Given the description of an element on the screen output the (x, y) to click on. 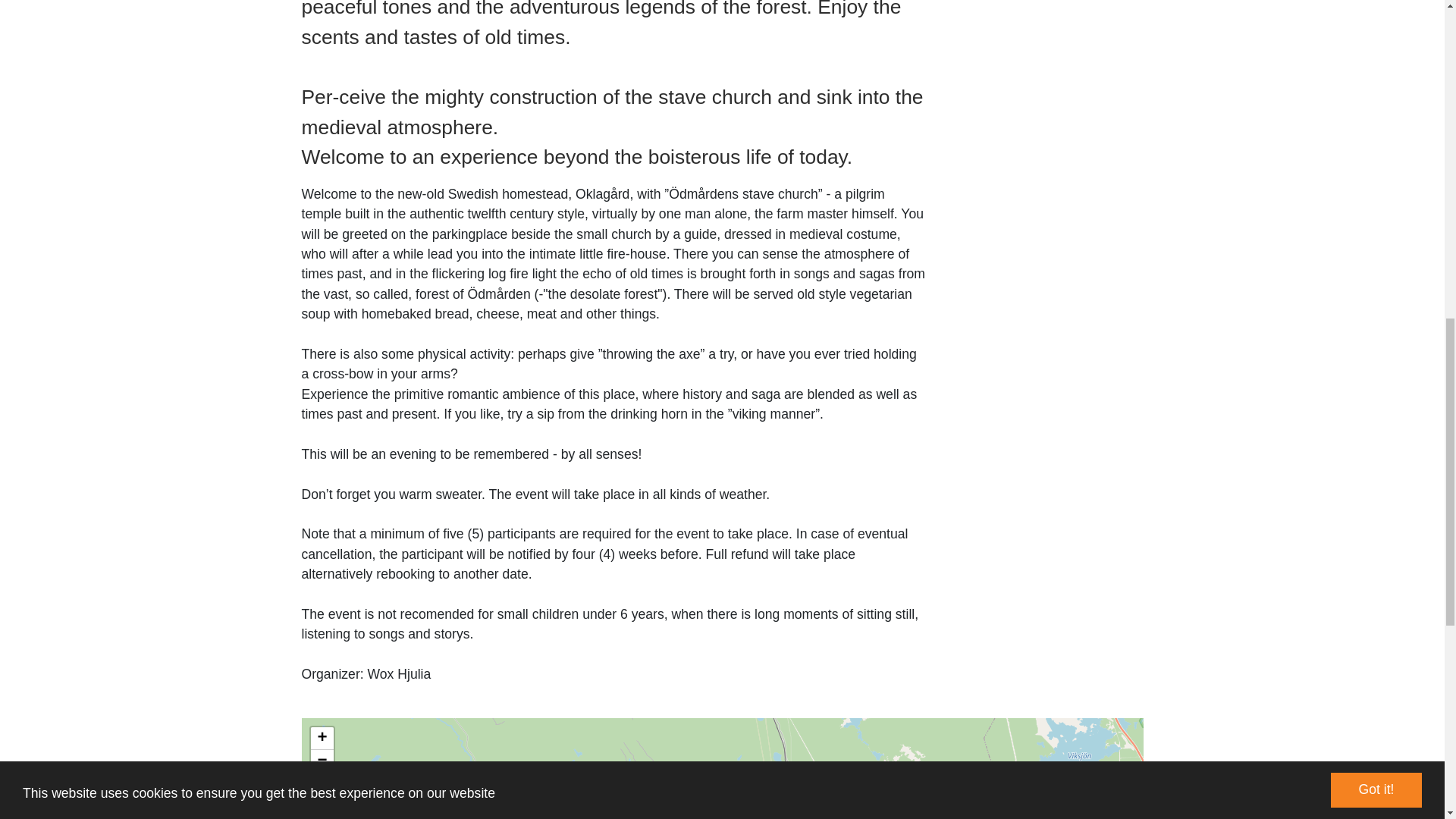
Zoom in (322, 738)
Zoom out (322, 761)
Got it! (1376, 25)
